Given the description of an element on the screen output the (x, y) to click on. 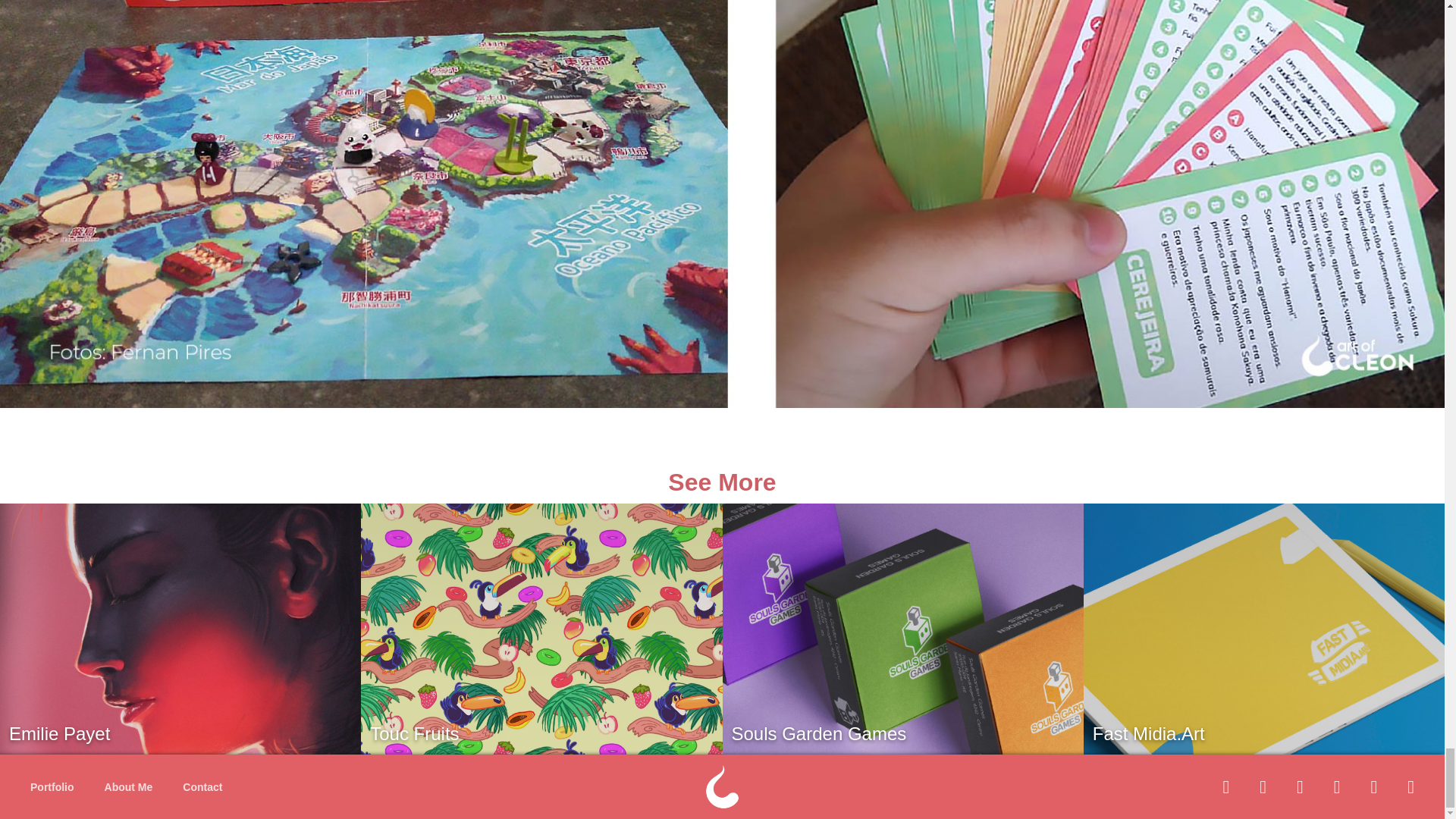
Souls Garden Games (902, 630)
Touc Fruits (541, 630)
Emilie Payet (180, 630)
